Given the description of an element on the screen output the (x, y) to click on. 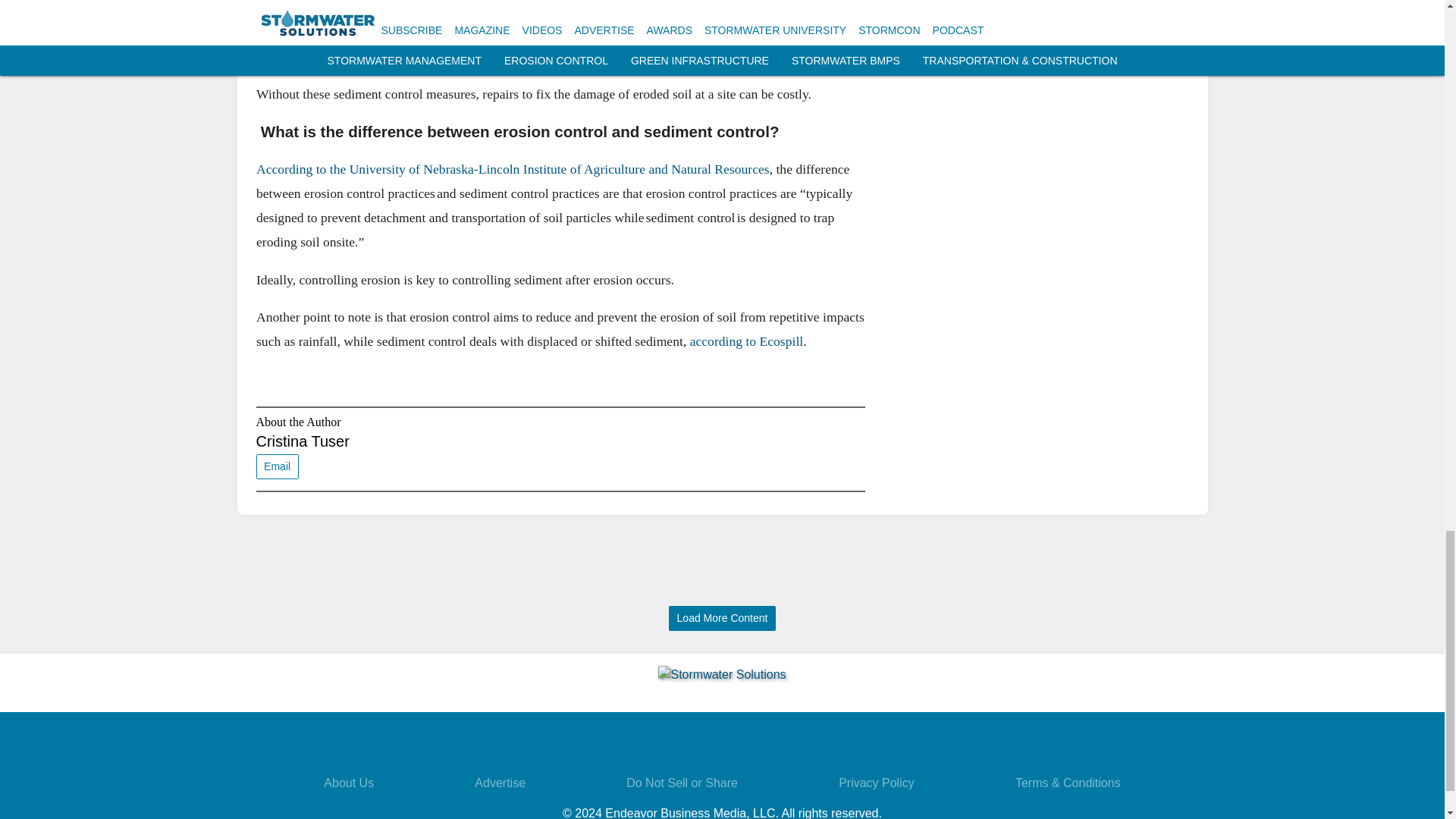
Email (277, 466)
according to Ecospill (745, 340)
